Given the description of an element on the screen output the (x, y) to click on. 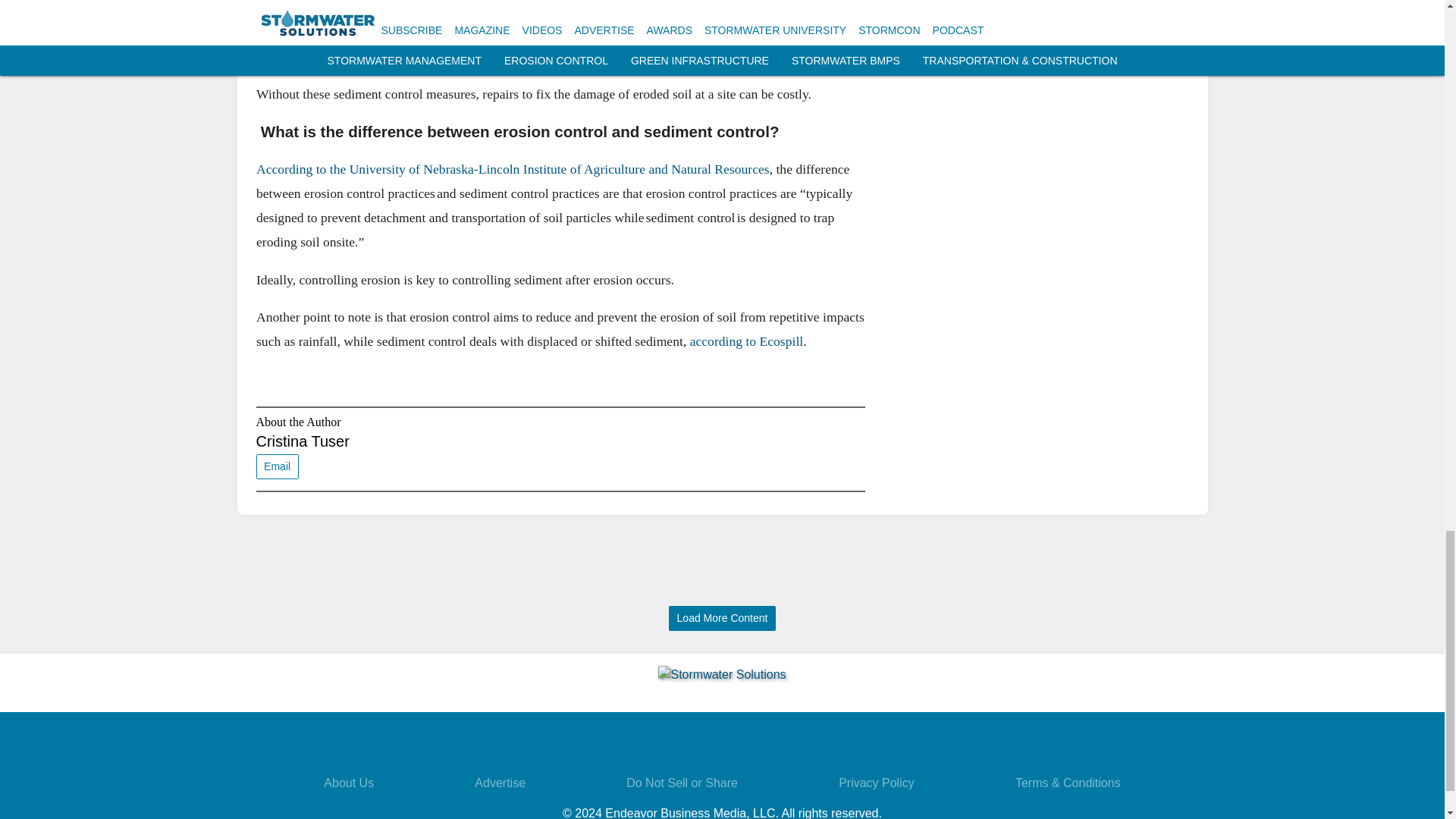
Email (277, 466)
according to Ecospill (745, 340)
